Given the description of an element on the screen output the (x, y) to click on. 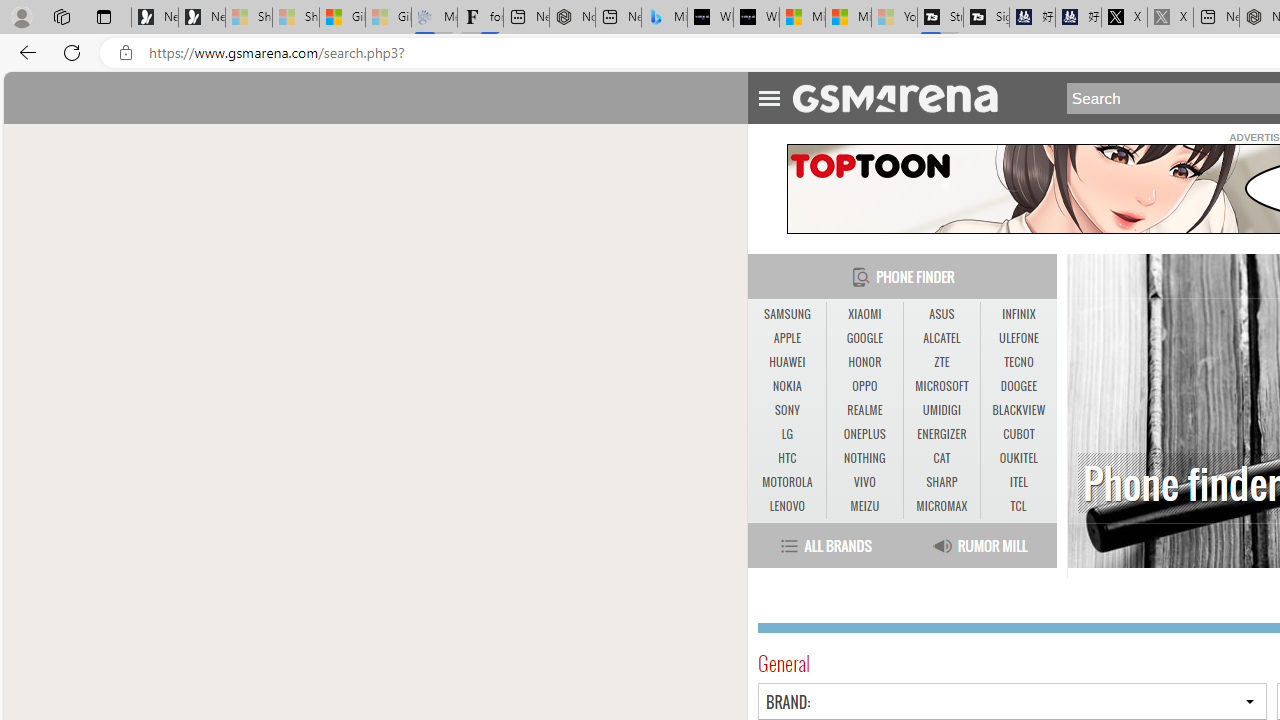
OUKITEL (1018, 457)
NOKIA (786, 386)
SHARP (941, 482)
GOOGLE (863, 338)
CAT (941, 457)
TCL (1018, 506)
SONY (786, 410)
XIAOMI (864, 314)
MICROMAX (941, 506)
AutomationID: anchor (904, 97)
HTC (786, 457)
SHARP (941, 483)
